Given the description of an element on the screen output the (x, y) to click on. 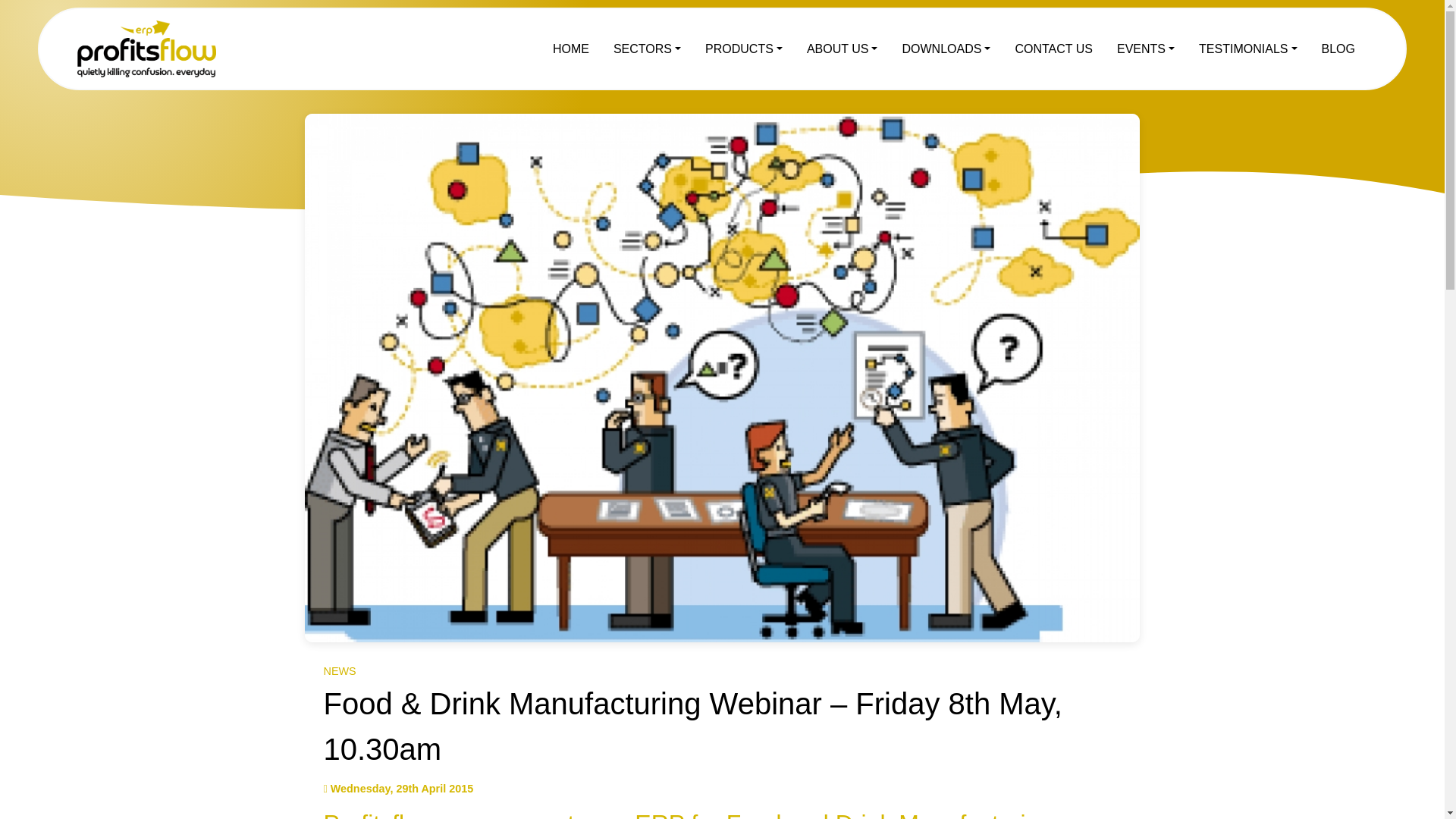
SECTORS (647, 48)
EVENTS (1145, 48)
TESTIMONIALS (1247, 48)
ABOUT US (841, 48)
BLOG (1337, 48)
HOME (570, 48)
DOWNLOADS (946, 48)
NEWS (339, 671)
CONTACT US (1054, 48)
PRODUCTS (743, 48)
